Given the description of an element on the screen output the (x, y) to click on. 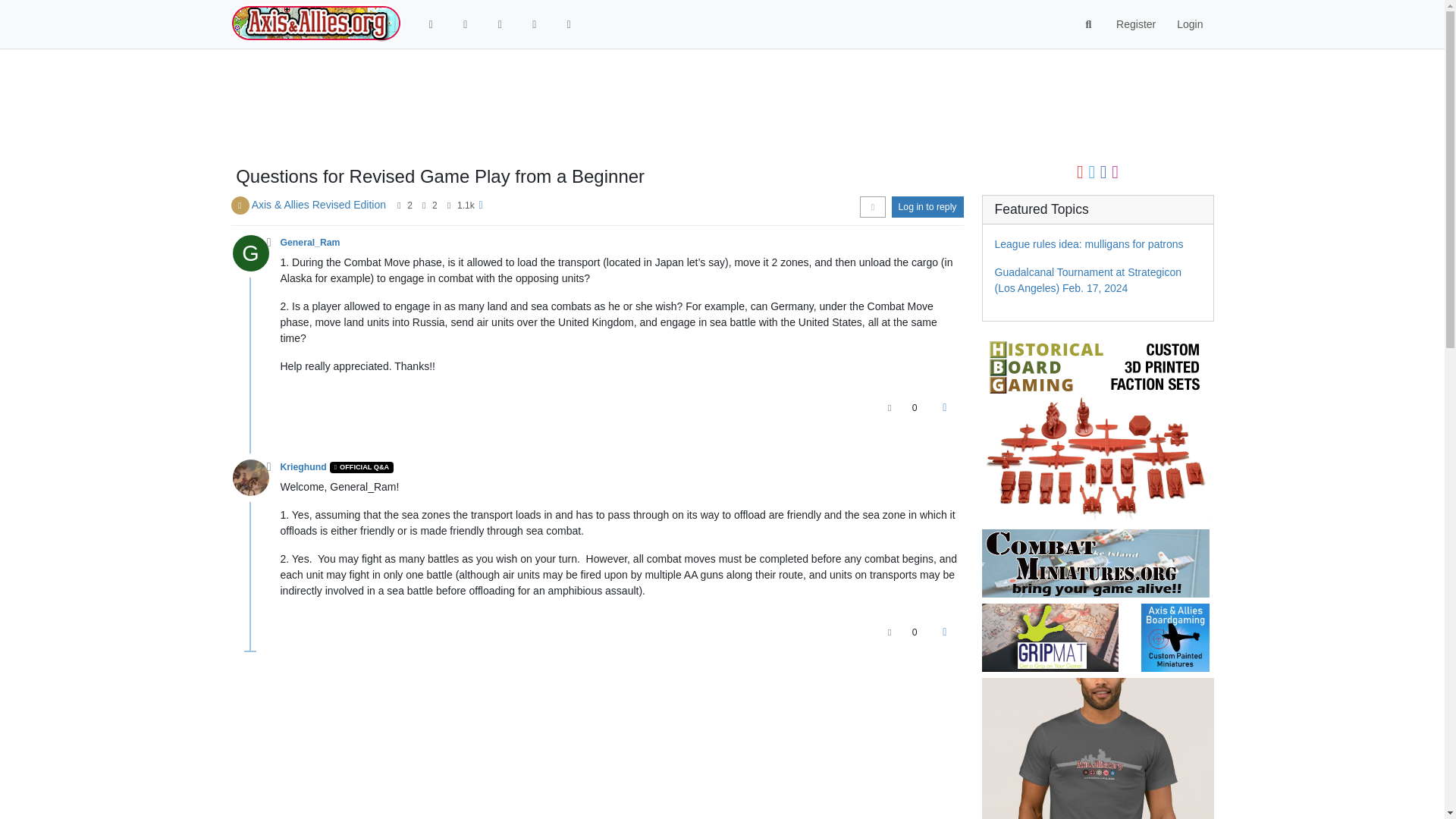
Home (430, 24)
Login (1189, 24)
Sort by (872, 206)
Views (449, 204)
Log in to reply (927, 206)
1050 (465, 204)
Posters (398, 204)
Search (1088, 24)
Recent (498, 24)
Users (568, 24)
Krieghund (303, 466)
G (255, 256)
Categories (465, 24)
Register (1135, 24)
Popular (533, 24)
